Given the description of an element on the screen output the (x, y) to click on. 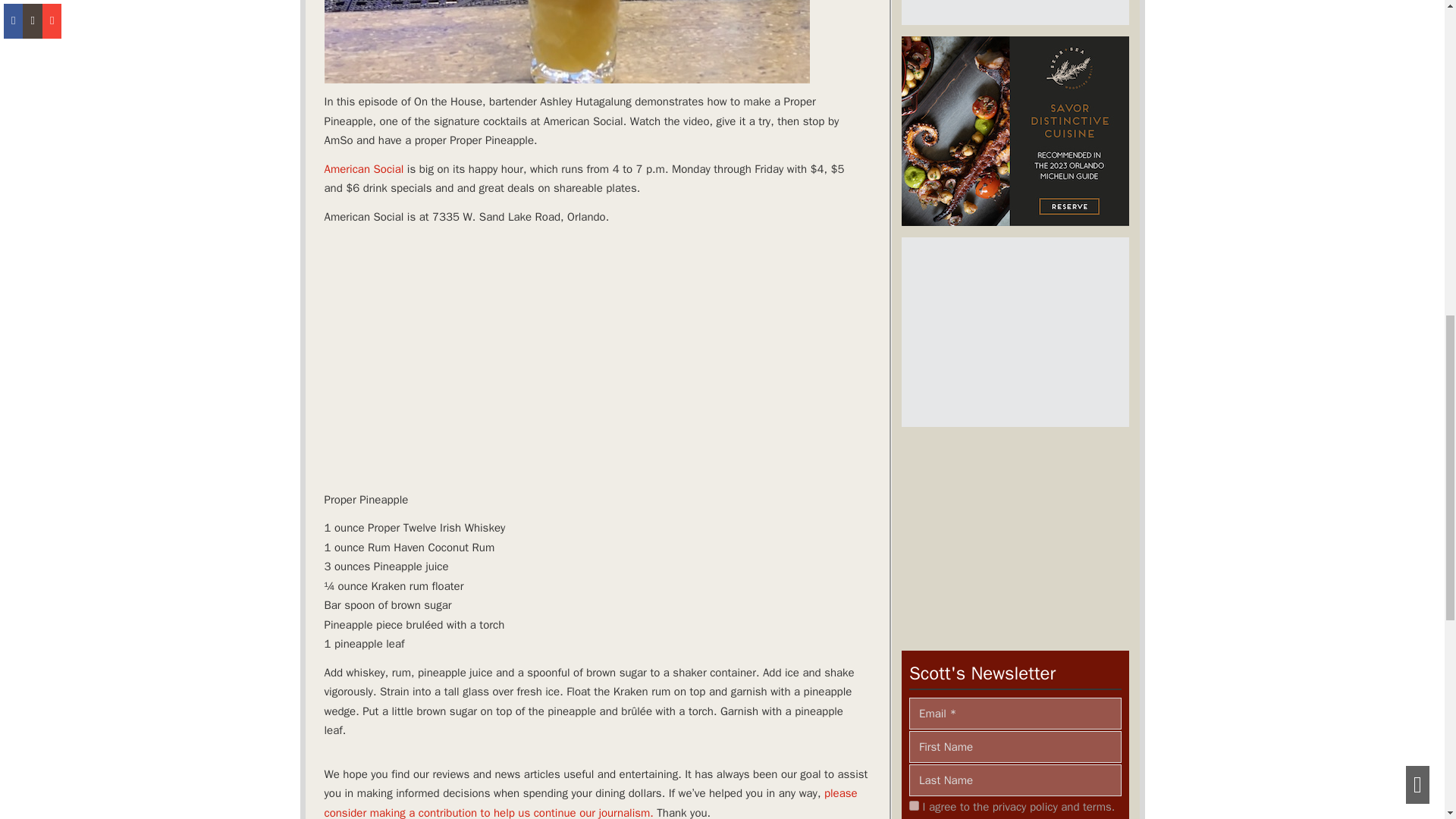
American Social (364, 169)
On the House: Proper Pineapple from American Social (566, 41)
1 (913, 805)
